Given the description of an element on the screen output the (x, y) to click on. 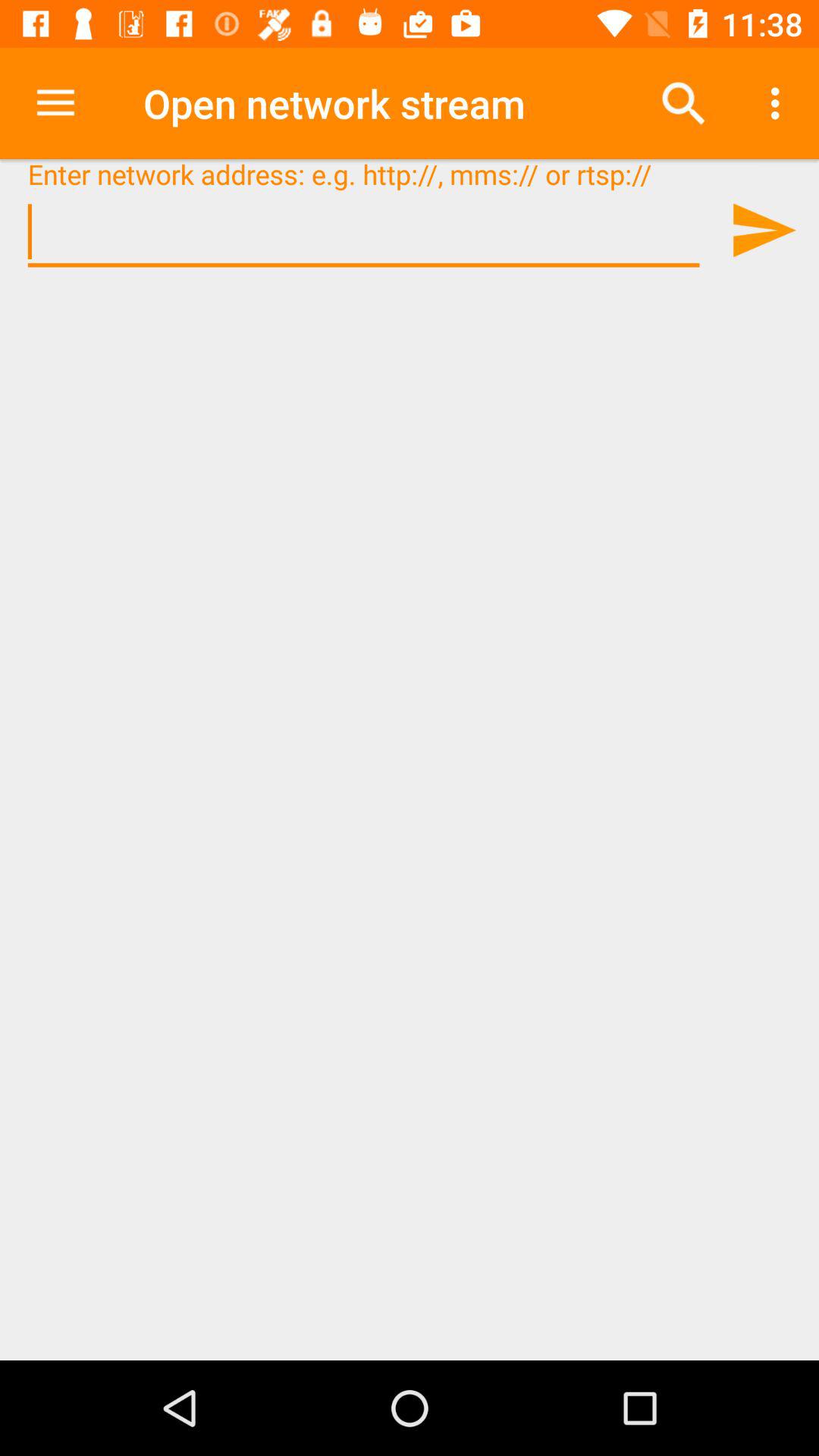
enter network address (363, 232)
